Given the description of an element on the screen output the (x, y) to click on. 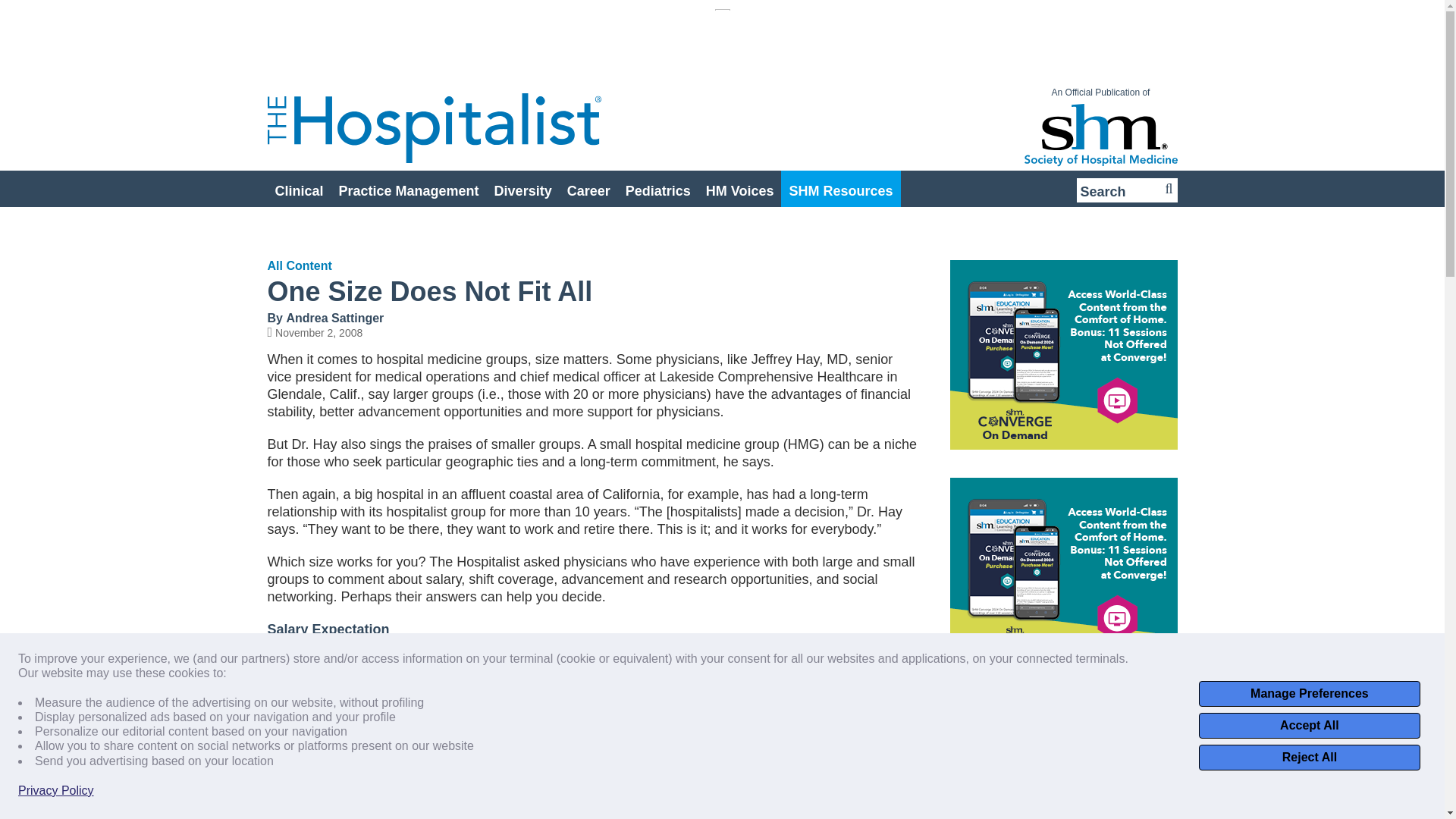
Privacy Policy (55, 789)
Reject All (1309, 757)
Manage Preferences (1309, 693)
Accept All (1309, 725)
